Given the description of an element on the screen output the (x, y) to click on. 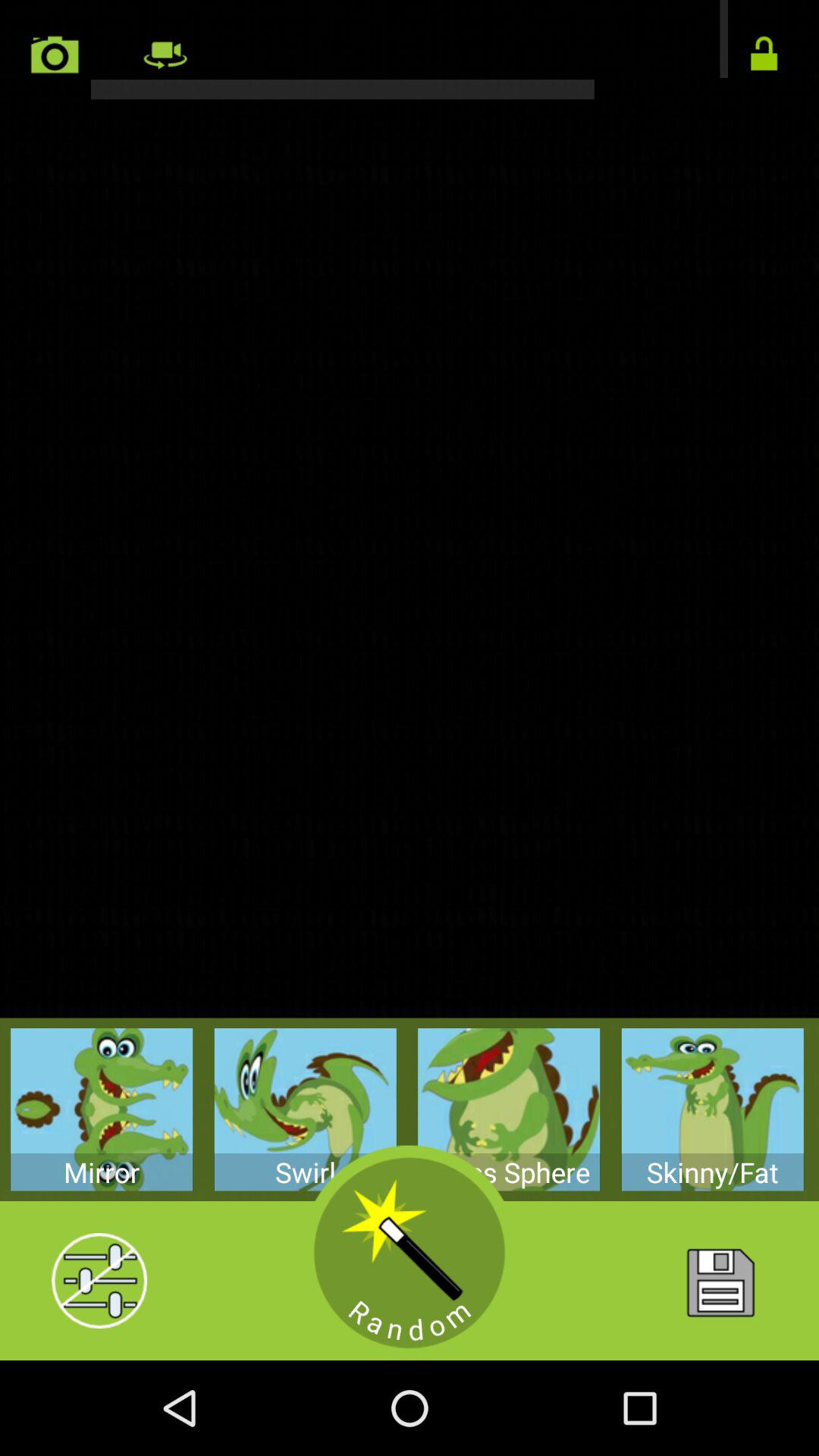
camera (54, 54)
